Given the description of an element on the screen output the (x, y) to click on. 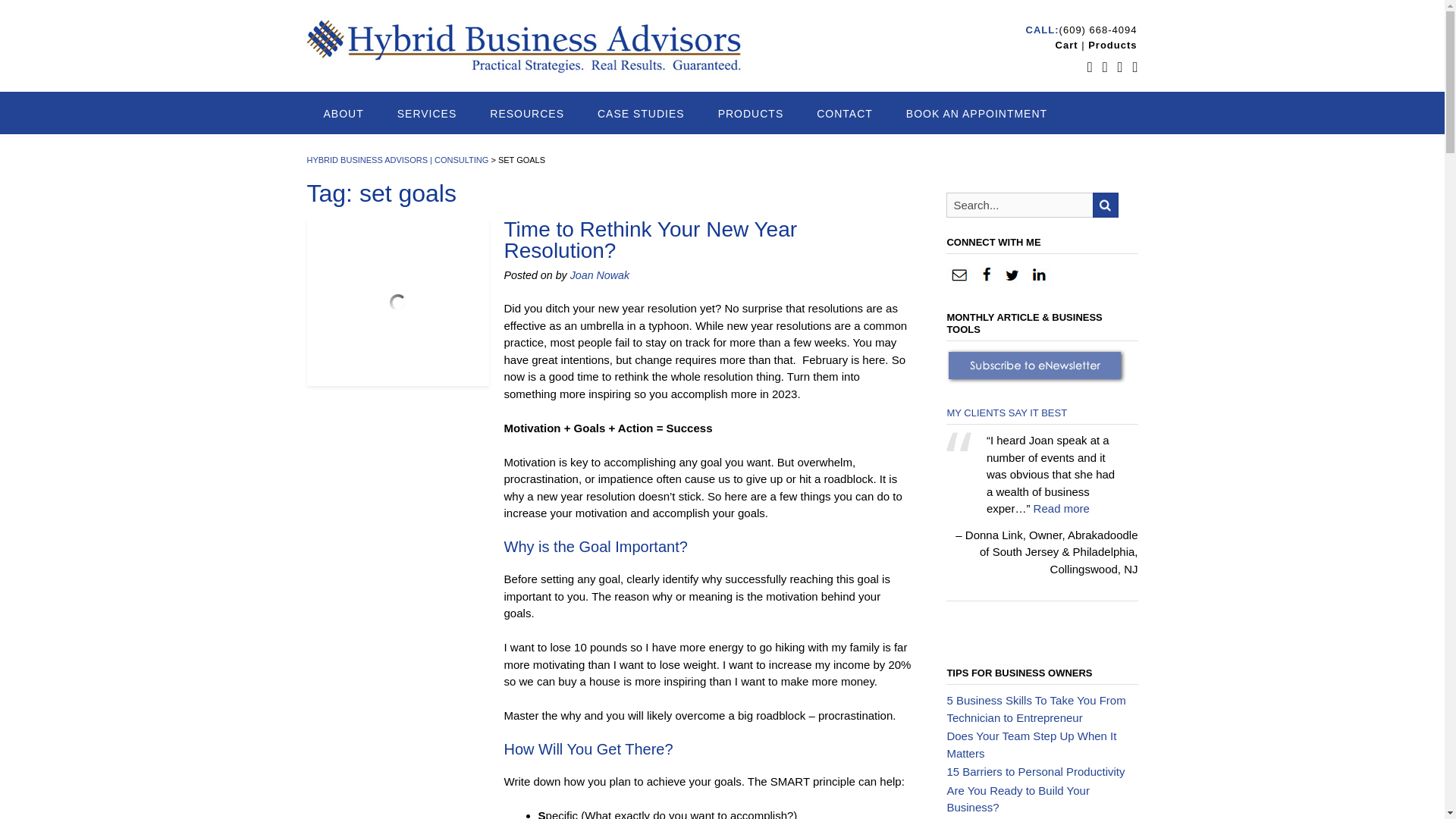
Joan Nowak (599, 275)
Products (1112, 44)
Complete testimonial by Donna Link (1061, 508)
Cart (1066, 44)
PRODUCTS (750, 112)
CASE STUDIES (640, 112)
SERVICES (427, 112)
ABOUT (342, 112)
RESOURCES (526, 112)
Small Business Case Studies (640, 112)
BOOK AN APPOINTMENT (976, 112)
Time to Rethink Your New Year Resolution? (650, 239)
CONTACT (844, 112)
